Given the description of an element on the screen output the (x, y) to click on. 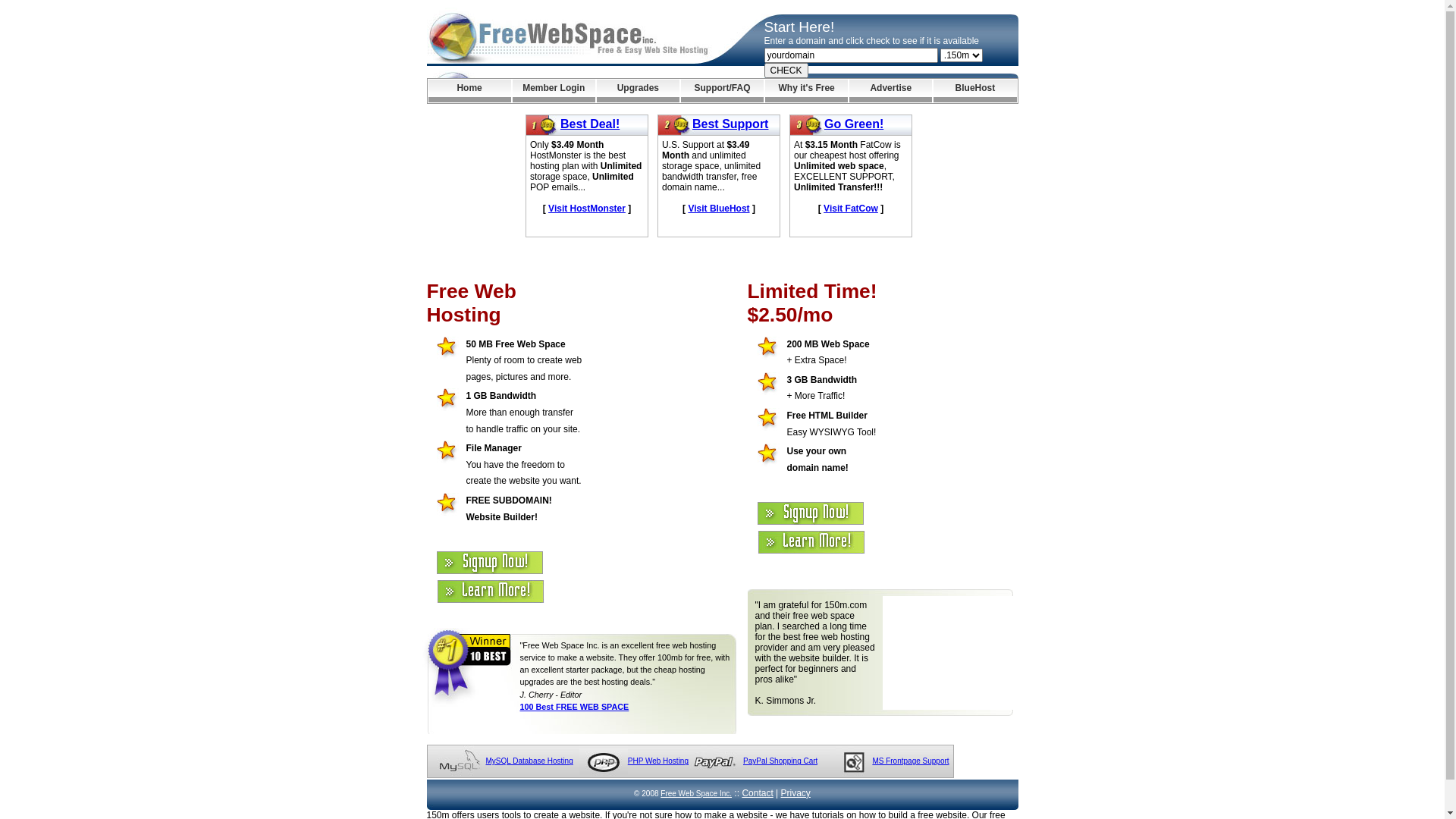
Upgrades Element type: text (637, 90)
Support/FAQ Element type: text (721, 90)
Member Login Element type: text (553, 90)
100 Best FREE WEB SPACE Element type: text (574, 706)
Privacy Element type: text (795, 792)
Why it's Free Element type: text (806, 90)
MS Frontpage Support Element type: text (910, 760)
PHP Web Hosting Element type: text (657, 760)
CHECK Element type: text (786, 70)
MySQL Database Hosting Element type: text (528, 760)
PayPal Shopping Cart Element type: text (780, 760)
Free Web Space Inc. Element type: text (695, 793)
Contact Element type: text (756, 792)
Advertise Element type: text (890, 90)
BlueHost Element type: text (974, 90)
Home Element type: text (468, 90)
